Given the description of an element on the screen output the (x, y) to click on. 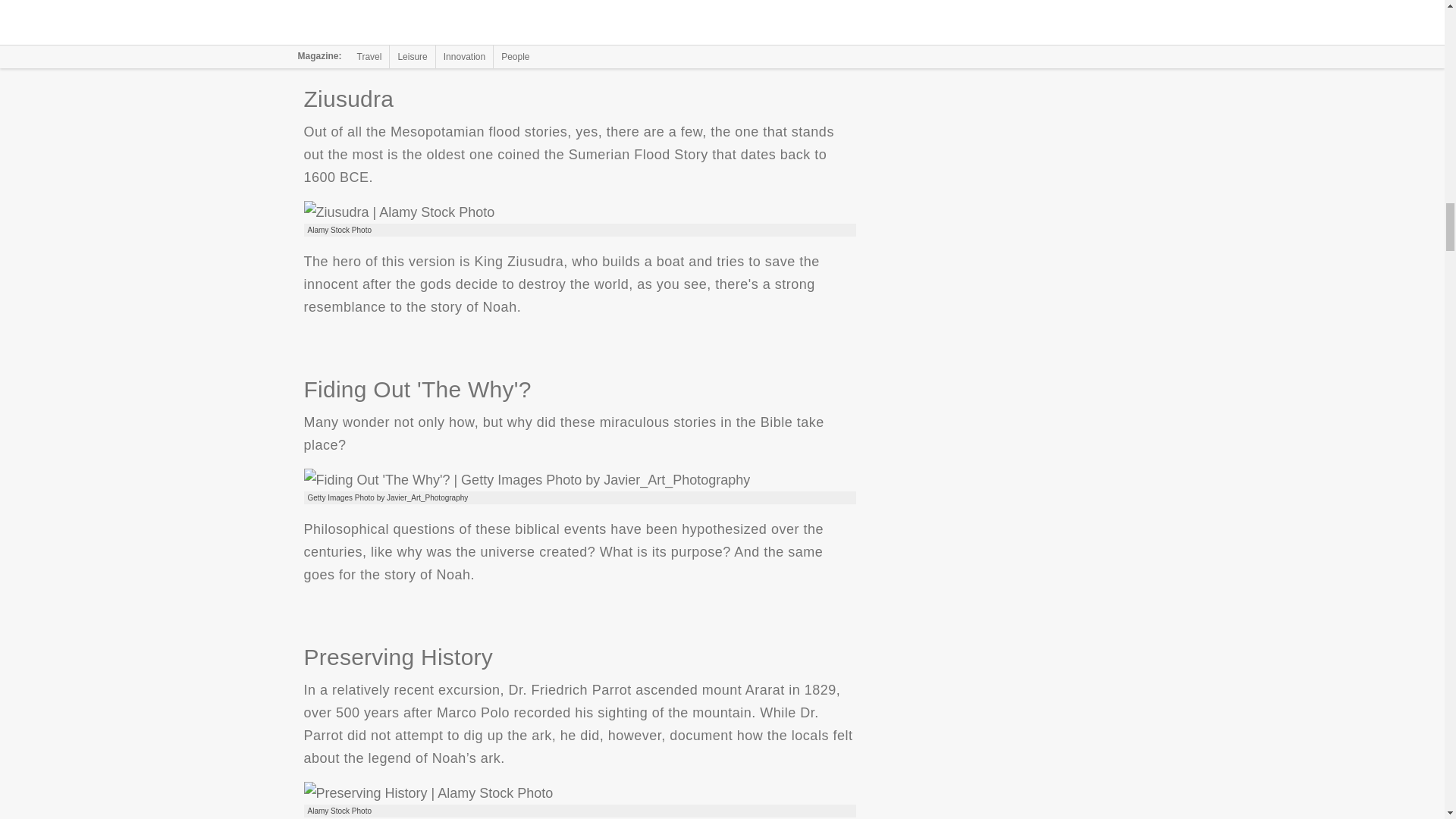
Fiding Out 'The Why'? (525, 479)
Ziusudra (398, 211)
Preserving History (427, 793)
